Given the description of an element on the screen output the (x, y) to click on. 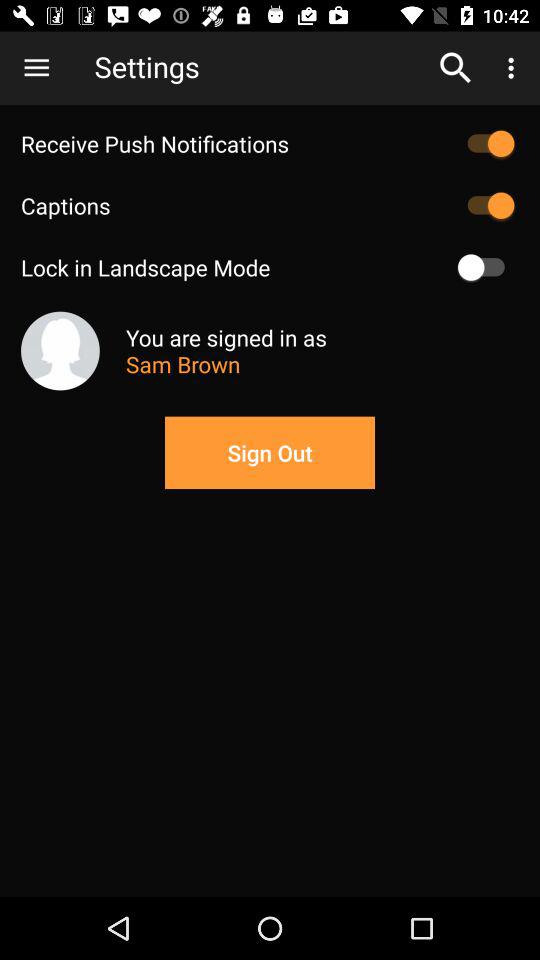
toggle option on (486, 267)
